Given the description of an element on the screen output the (x, y) to click on. 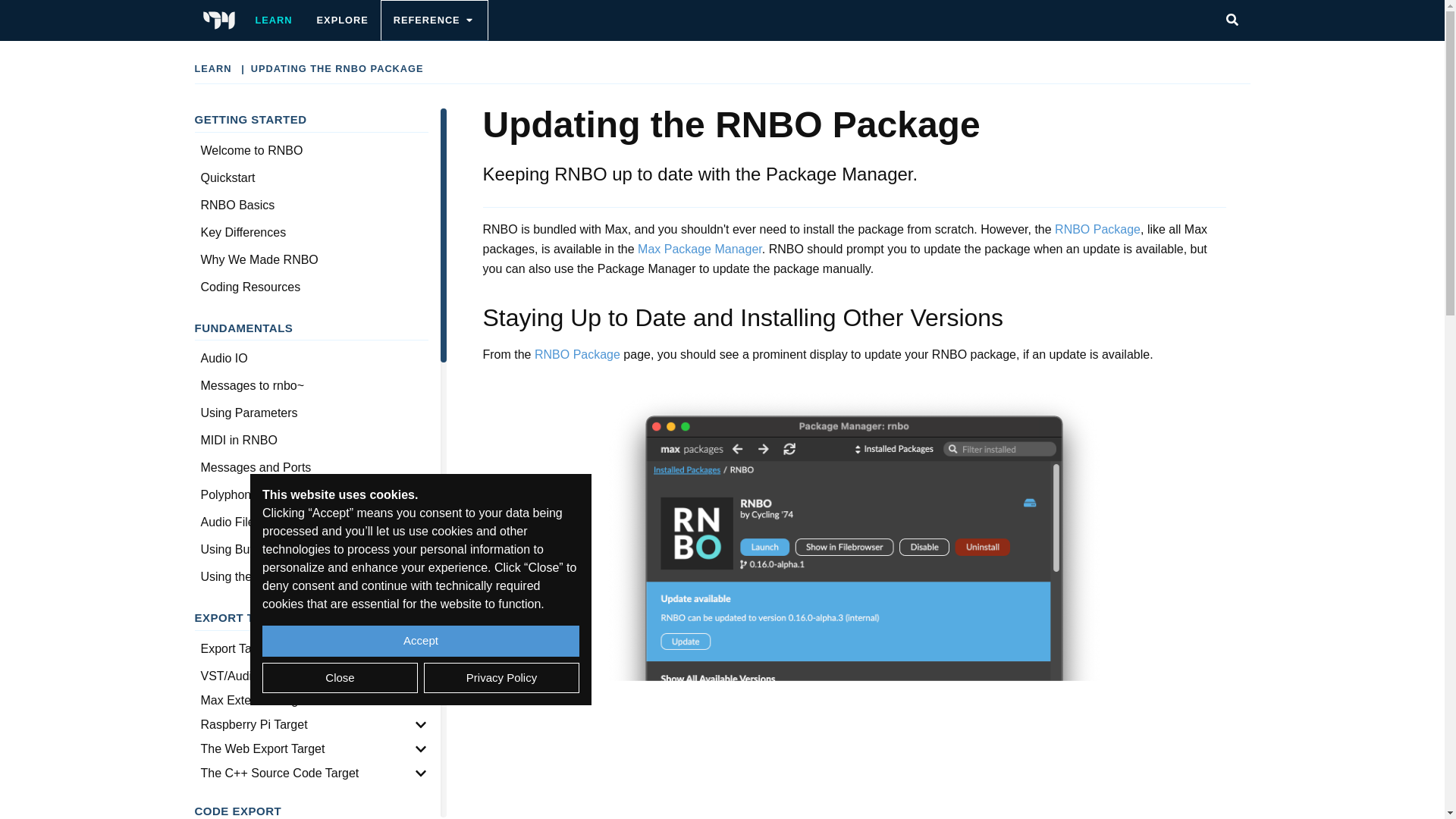
Open the Package Manager guide in a new tab (699, 248)
Open the RNBO package in Max (1095, 228)
Open the RNBO package in Max (577, 354)
